Given the description of an element on the screen output the (x, y) to click on. 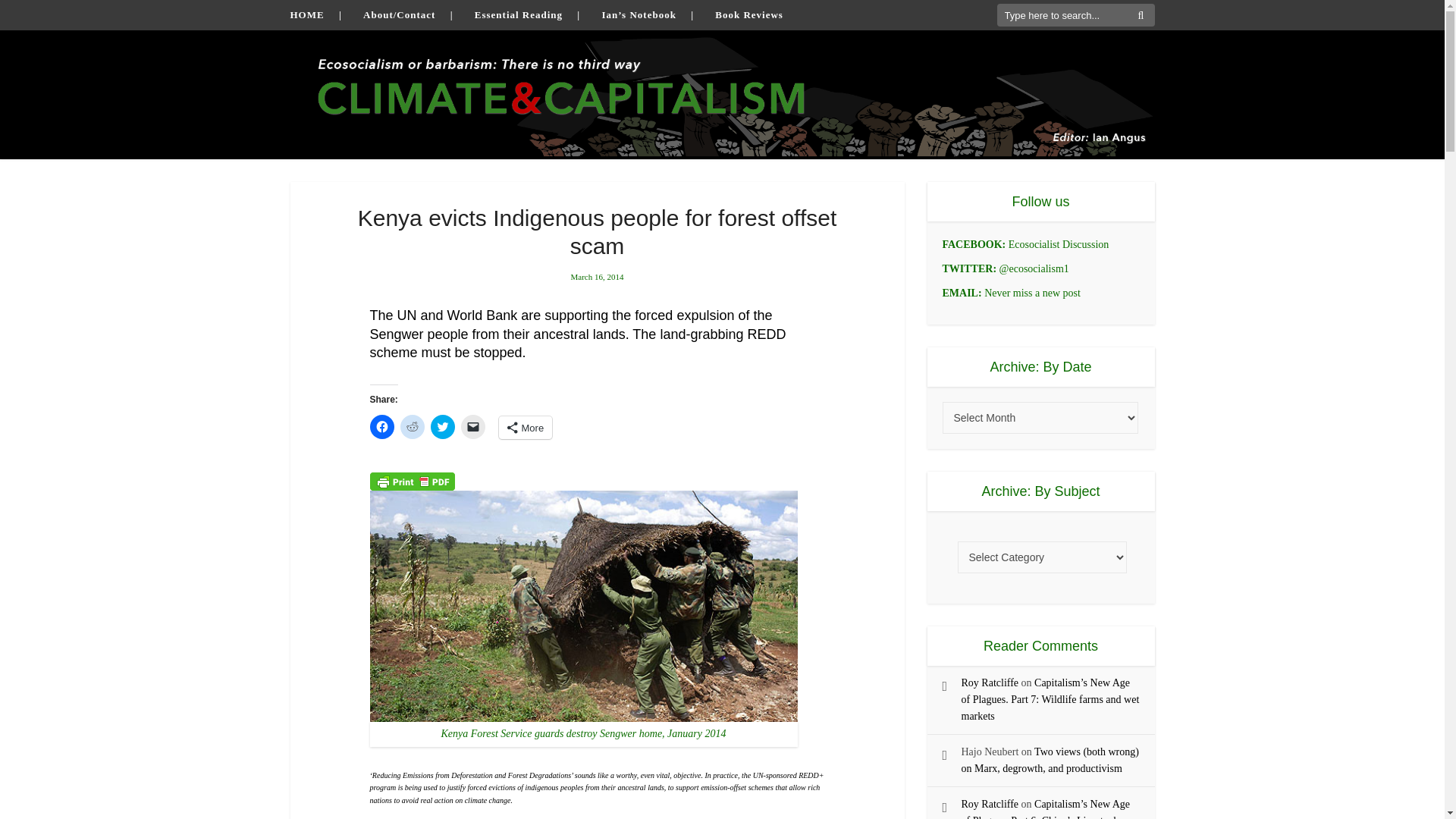
Click to share on Facebook (381, 426)
Essential Reading (518, 14)
Type here to search... (1074, 15)
Type here to search... (1074, 15)
Click to email a link to a friend (472, 426)
More (526, 427)
Book Reviews (748, 14)
Click to share on Reddit (412, 426)
HOME (306, 14)
Click to share on Twitter (442, 426)
